Given the description of an element on the screen output the (x, y) to click on. 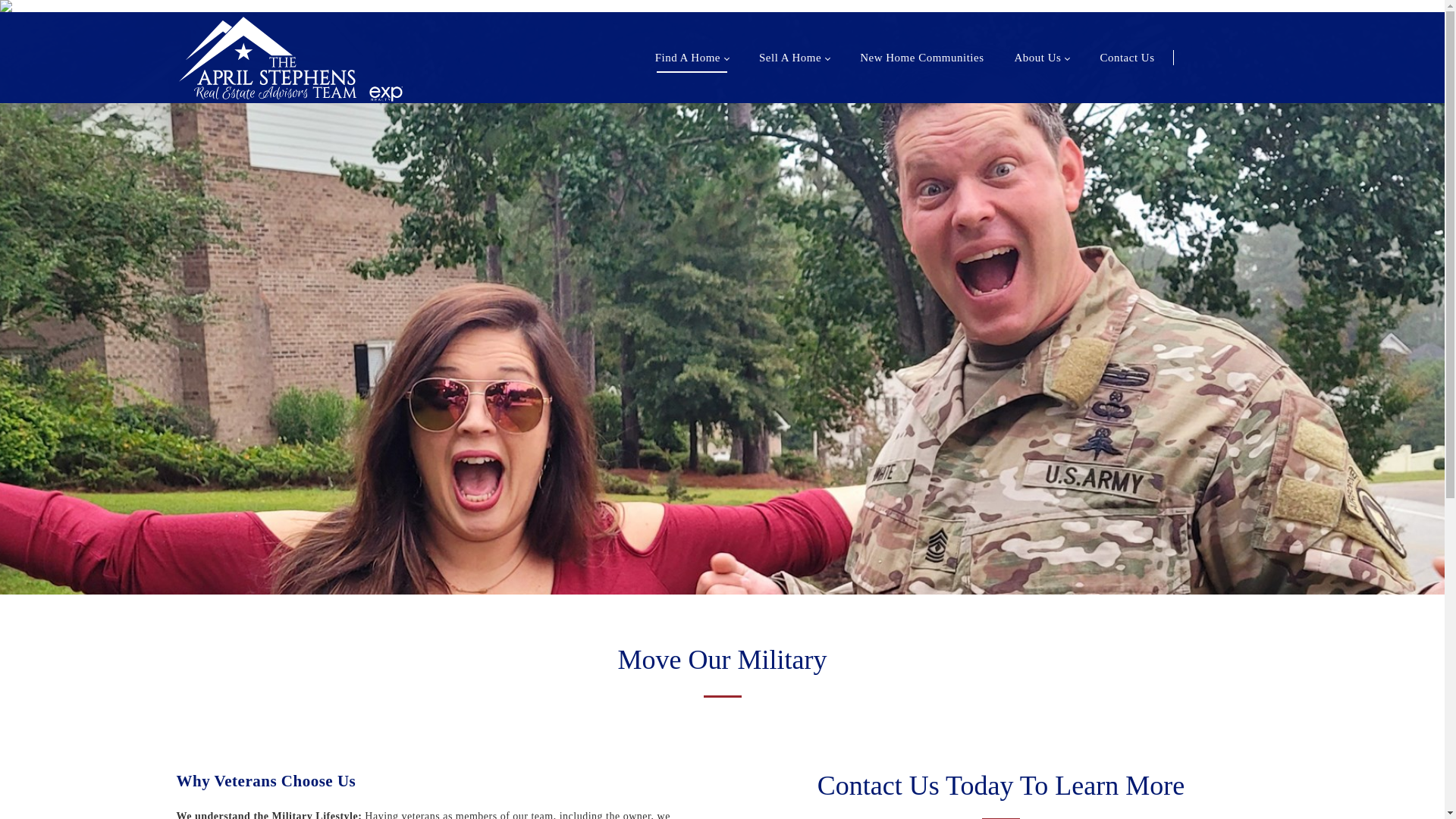
Sell A Home (793, 57)
Find A Home (692, 57)
New Home Communities (922, 57)
Sell A Home (793, 57)
About Us (1042, 57)
Contact Us (1126, 57)
About Us (1042, 57)
Find A Home (692, 57)
April Stephens Team (267, 57)
